Given the description of an element on the screen output the (x, y) to click on. 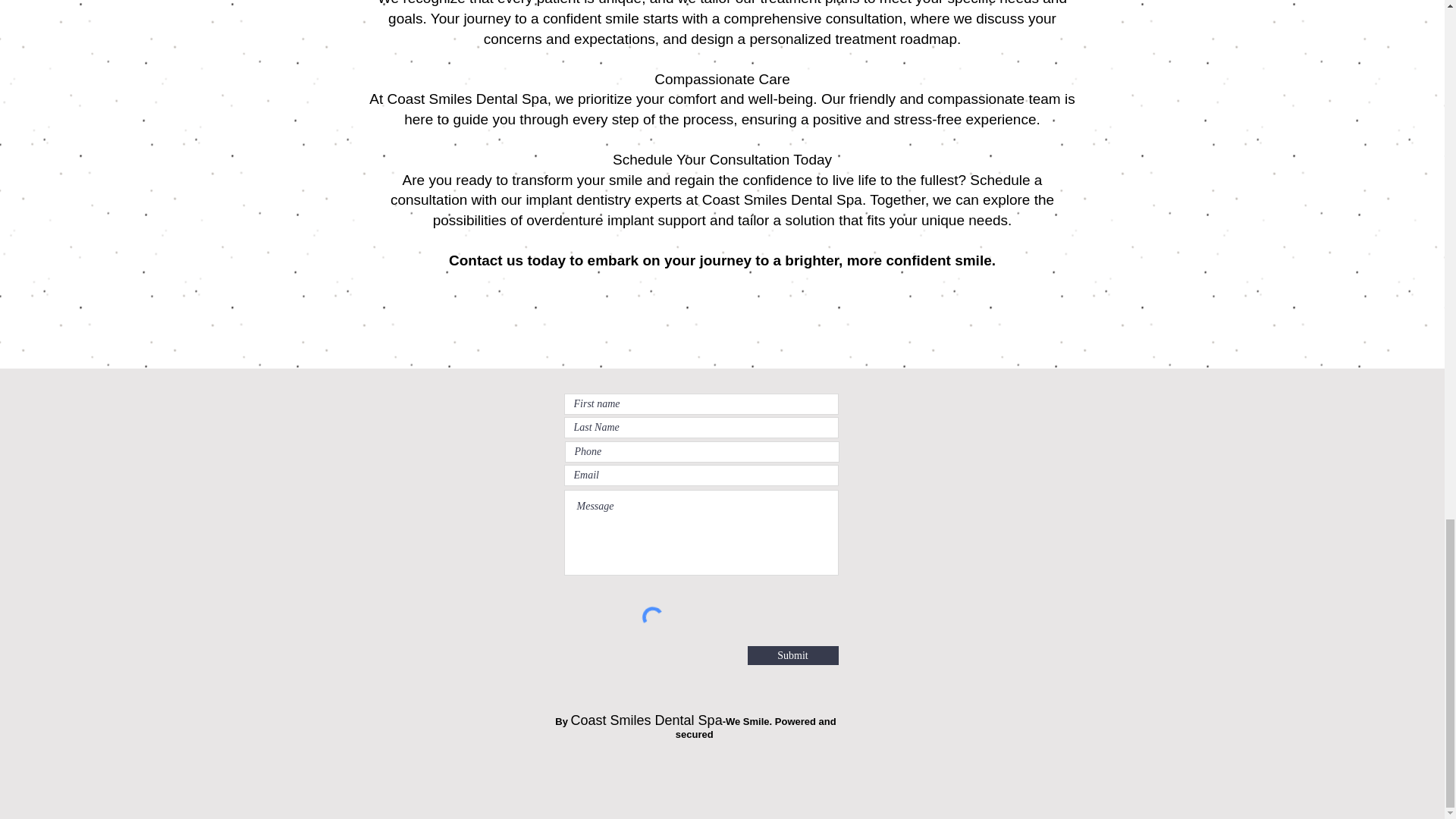
Submit (793, 655)
